Given the description of an element on the screen output the (x, y) to click on. 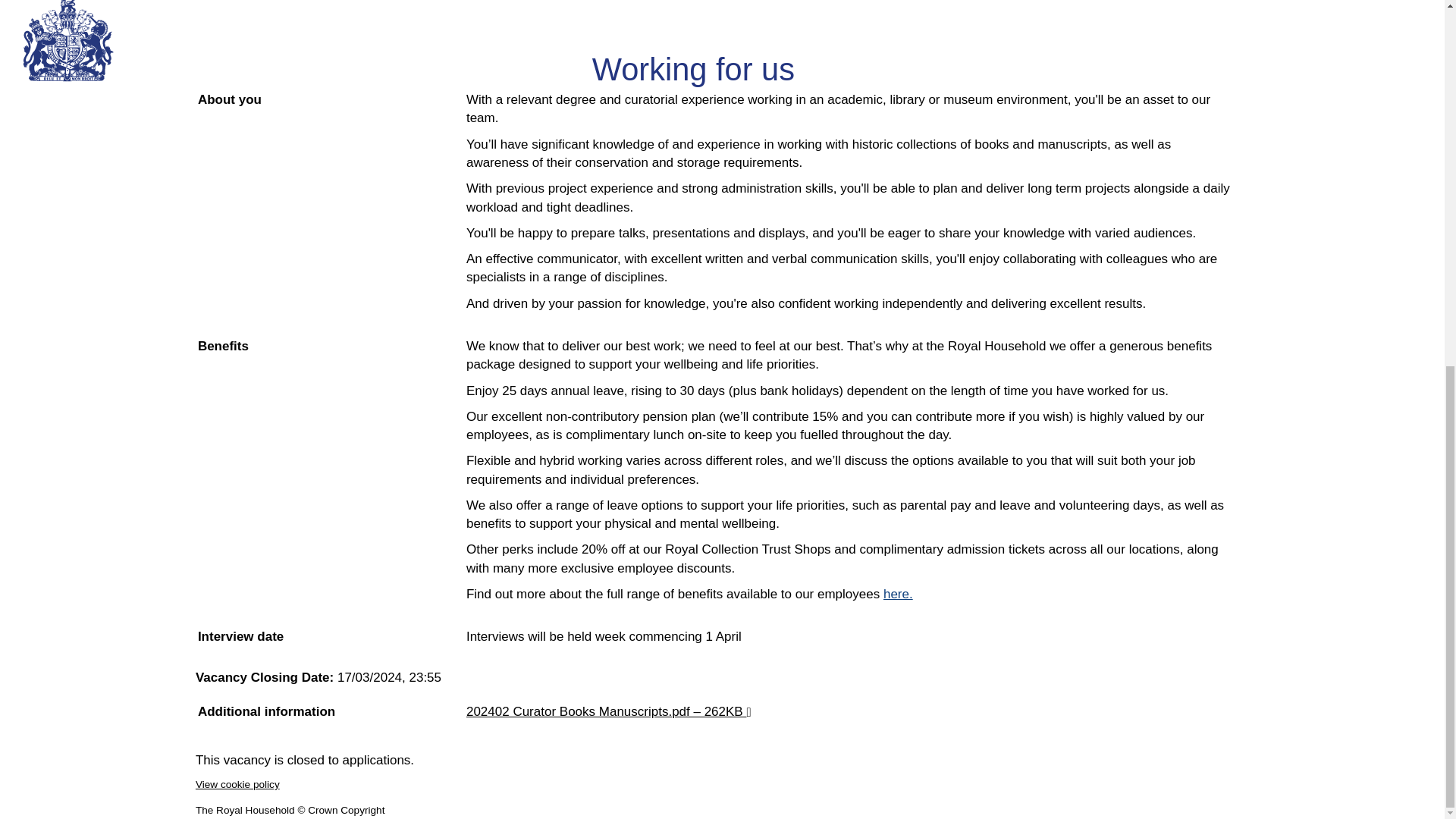
View cookie policy (237, 784)
here. (897, 594)
